Given the description of an element on the screen output the (x, y) to click on. 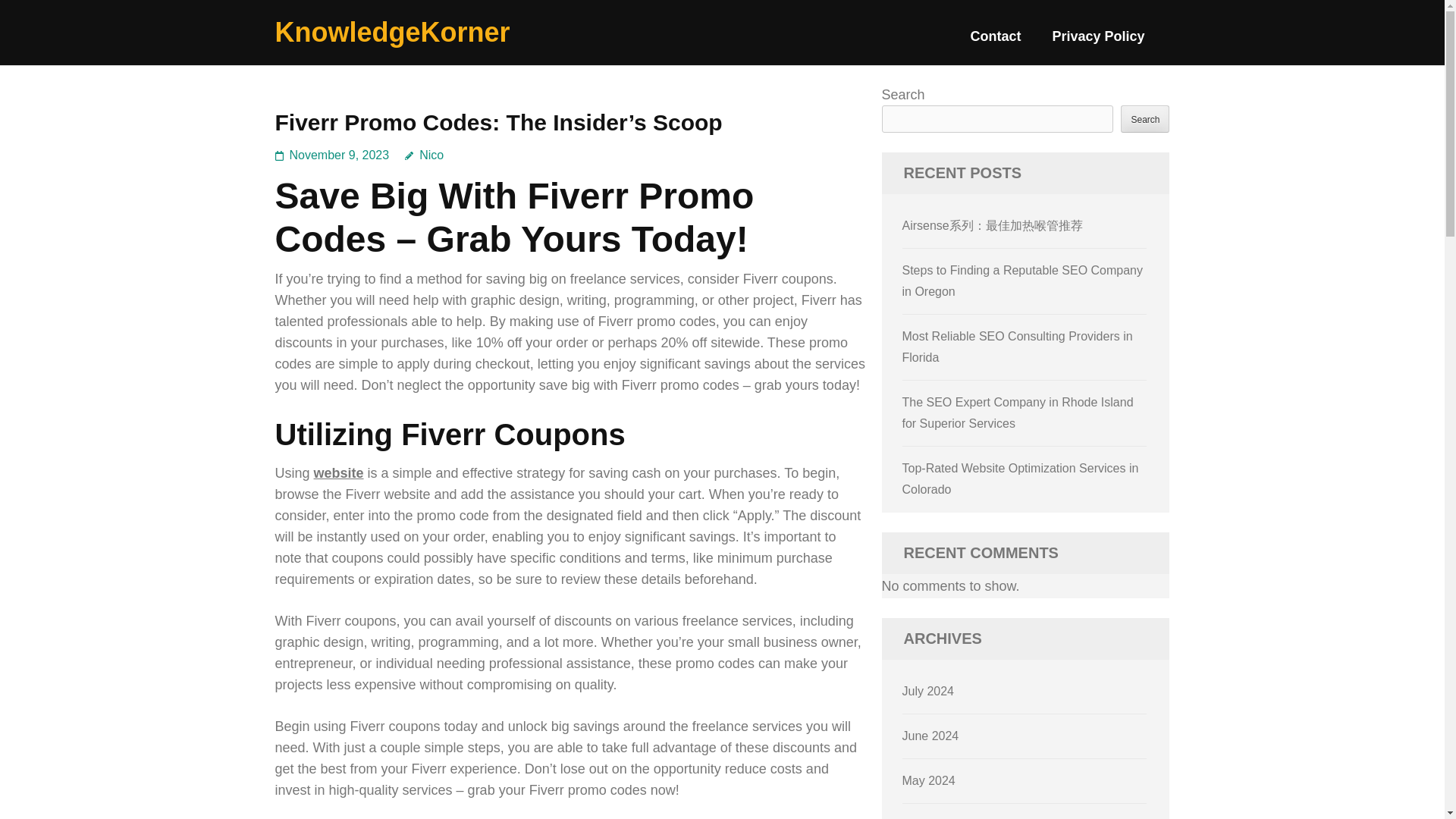
Top-Rated Website Optimization Services in Colorado (1020, 478)
Most Reliable SEO Consulting Providers in Florida (1017, 346)
July 2024 (928, 690)
Search (1145, 118)
website (339, 473)
The SEO Expert Company in Rhode Island for Superior Services (1018, 412)
Contact (994, 42)
Privacy Policy (1097, 42)
November 9, 2023 (339, 154)
Steps to Finding a Reputable SEO Company in Oregon (1022, 280)
May 2024 (928, 780)
Nico (424, 154)
KnowledgeKorner (392, 31)
June 2024 (930, 735)
